Given the description of an element on the screen output the (x, y) to click on. 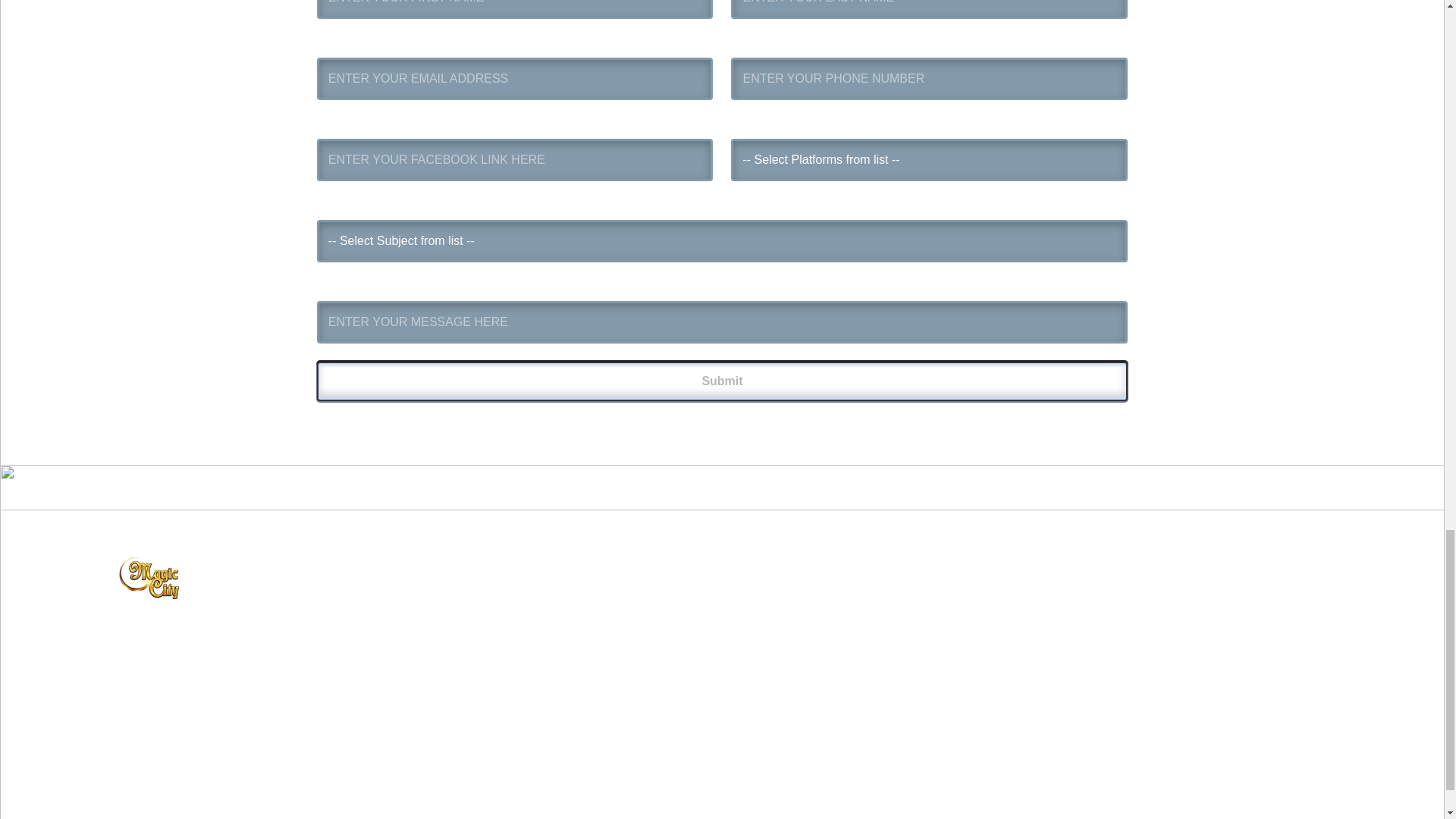
Submit (721, 381)
Home (618, 601)
Magic City (618, 631)
Submit (721, 381)
